Given the description of an element on the screen output the (x, y) to click on. 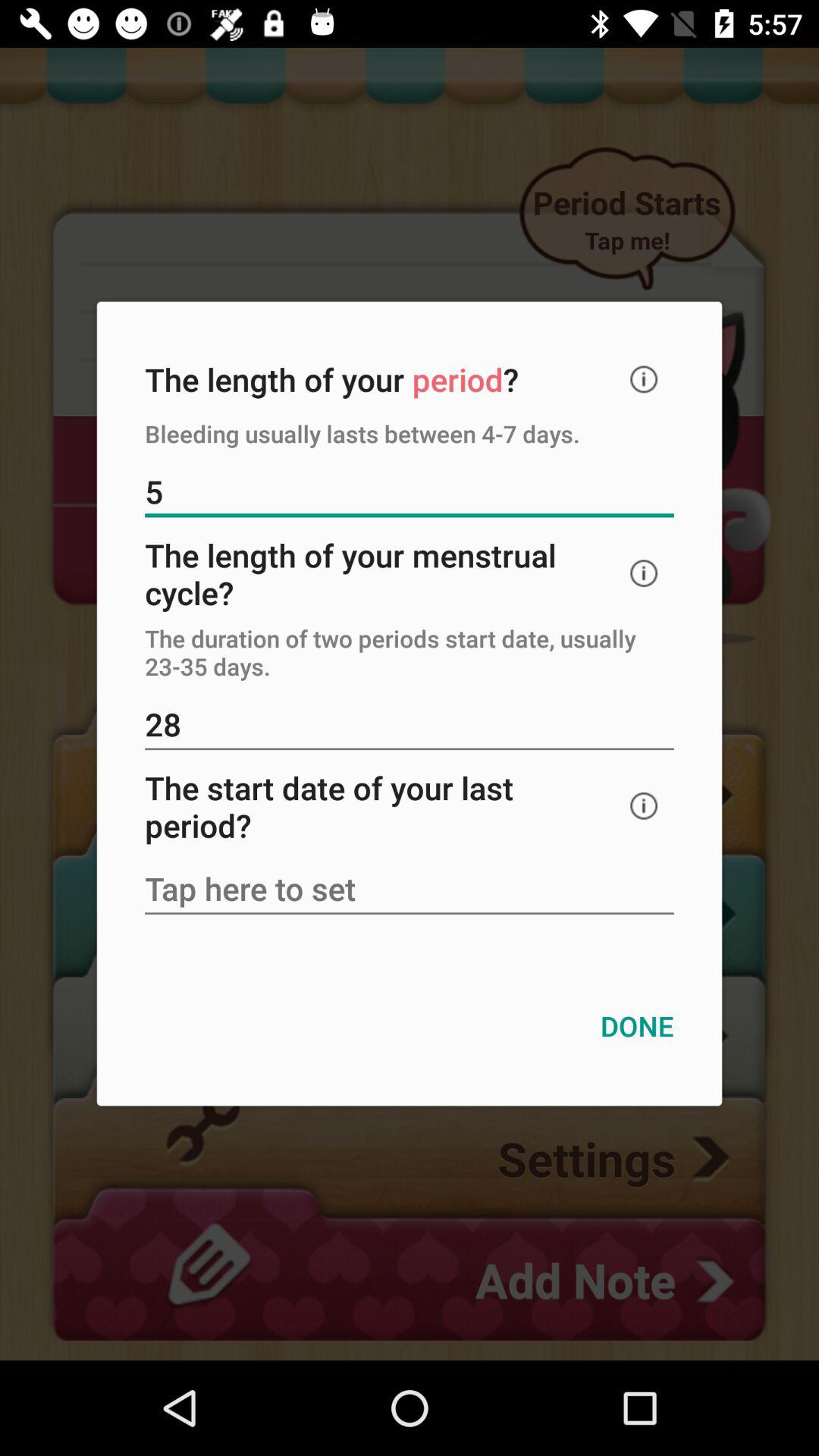
select 5 icon (409, 493)
